Given the description of an element on the screen output the (x, y) to click on. 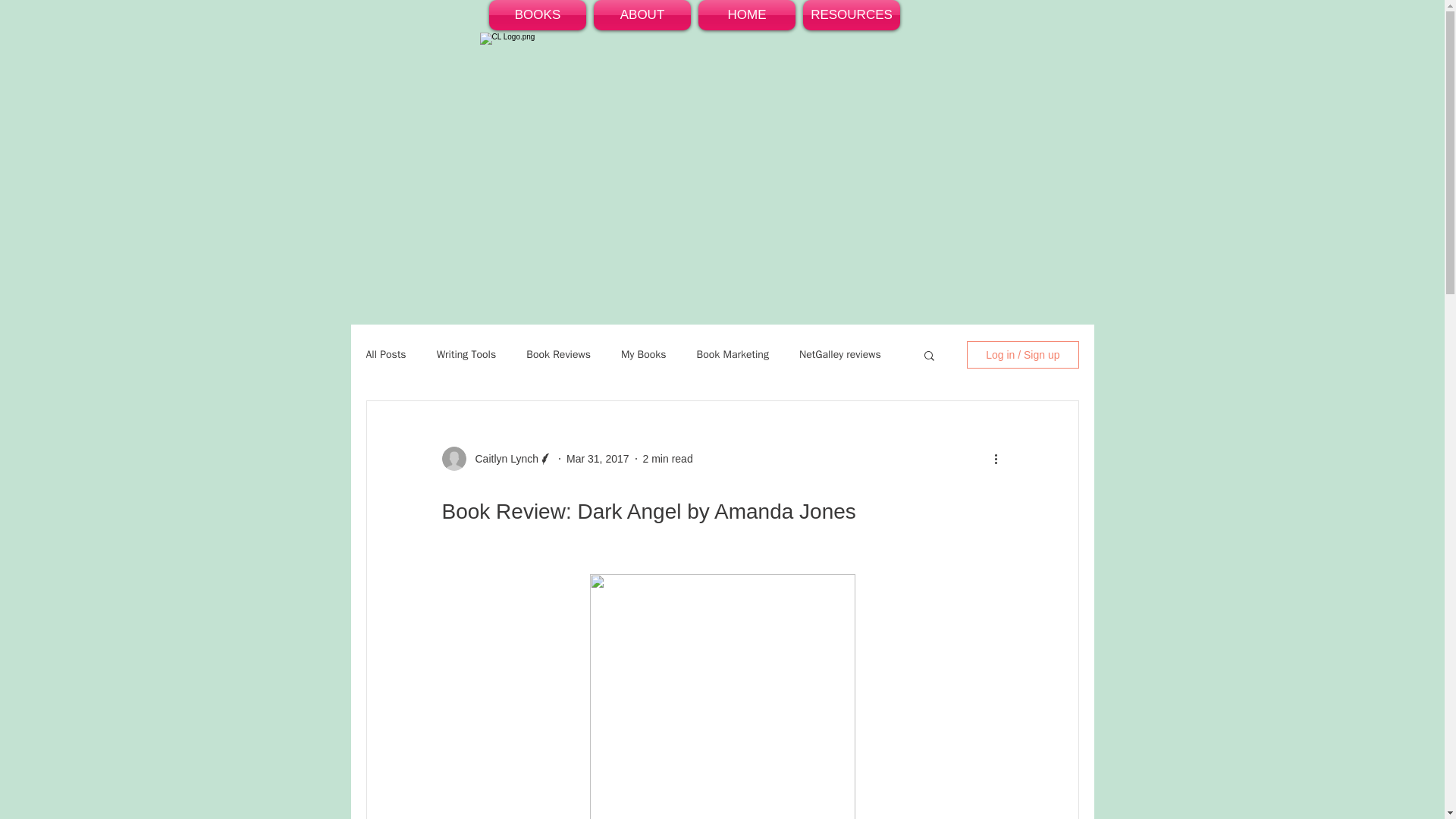
Book Marketing (732, 354)
NetGalley reviews (839, 354)
All Posts (385, 354)
HOME (746, 15)
Writing Tools (466, 354)
RESOURCES (851, 15)
My Books (643, 354)
2 min read (668, 458)
Caitlyn Lynch (501, 458)
Mar 31, 2017 (597, 458)
